Given the description of an element on the screen output the (x, y) to click on. 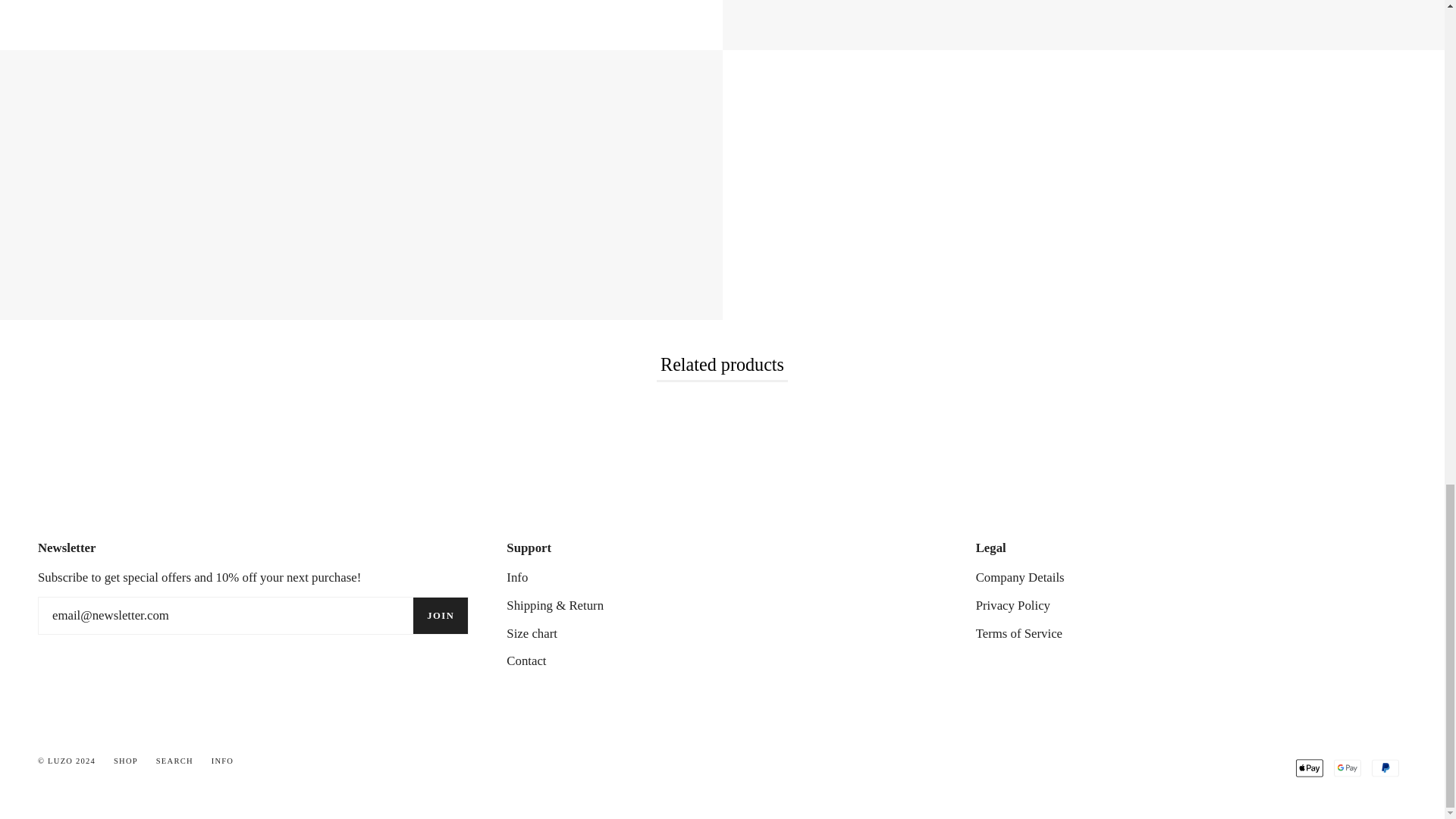
Google Pay (1347, 768)
PayPal (1385, 768)
Apple Pay (1309, 768)
